Given the description of an element on the screen output the (x, y) to click on. 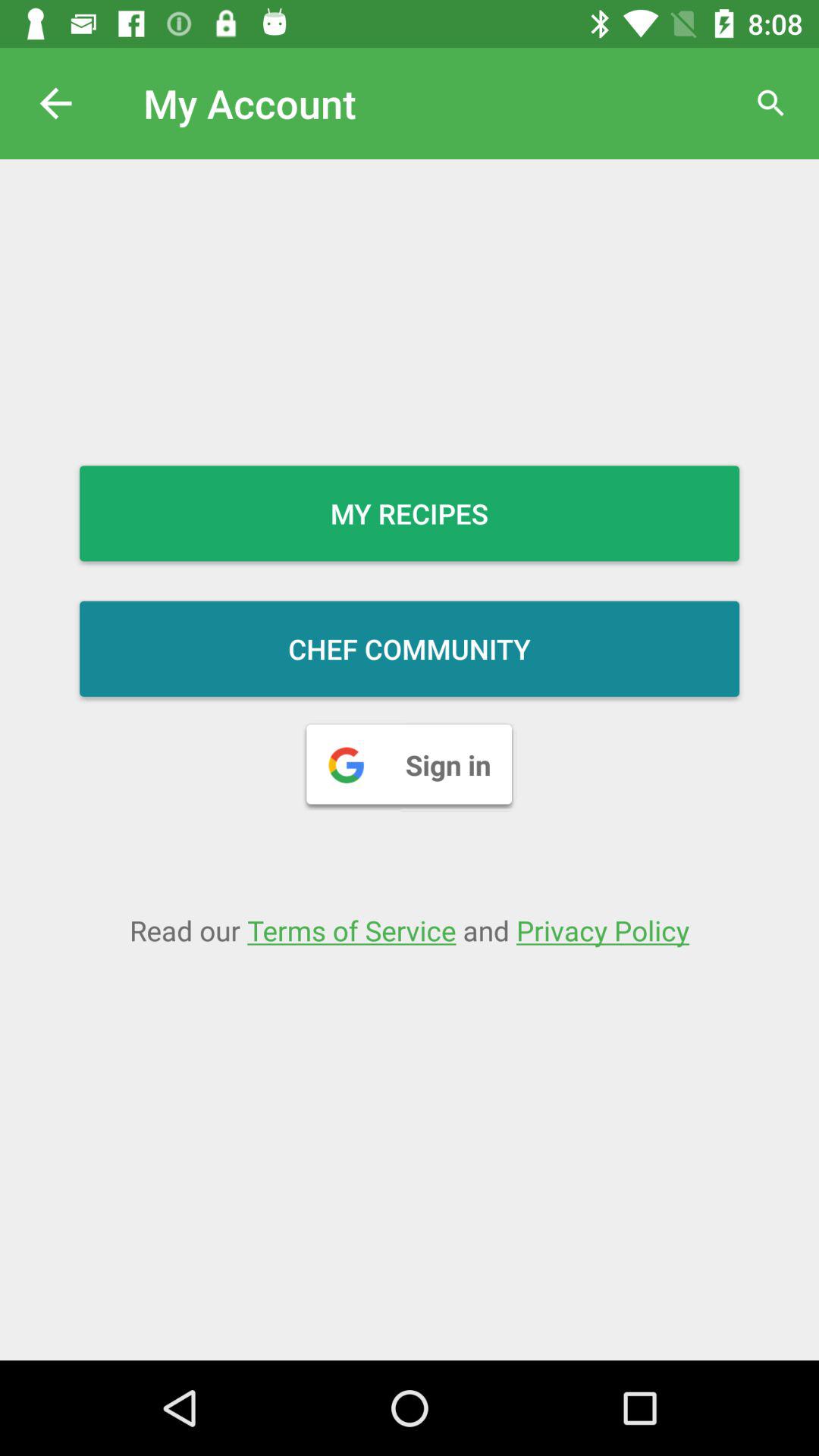
click on sign in (409, 764)
